Given the description of an element on the screen output the (x, y) to click on. 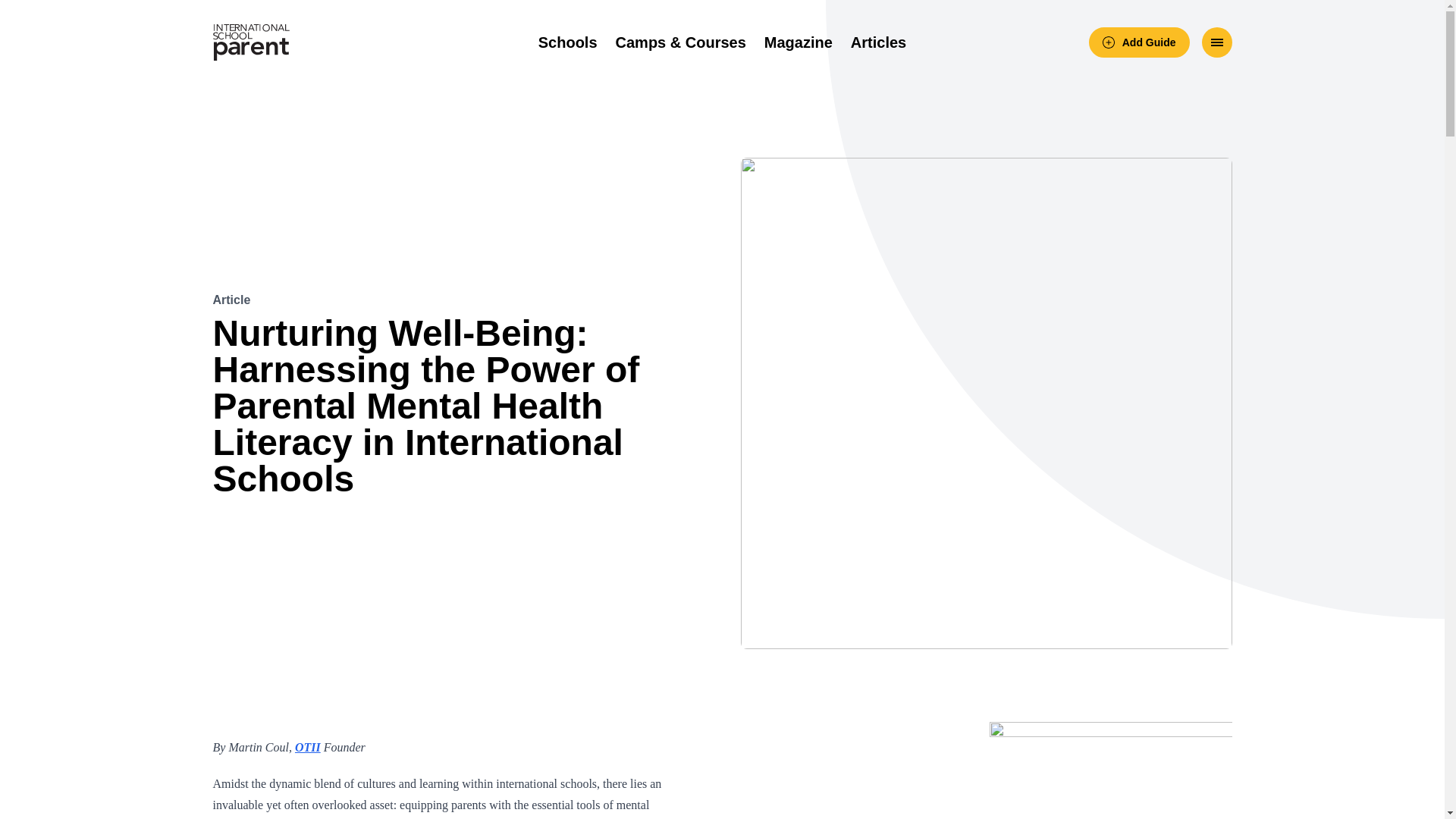
Magazine (798, 42)
Add Guide (1139, 42)
Open mobile navigation (1216, 42)
Schools (567, 42)
Articles (877, 42)
OTII (307, 747)
